Given the description of an element on the screen output the (x, y) to click on. 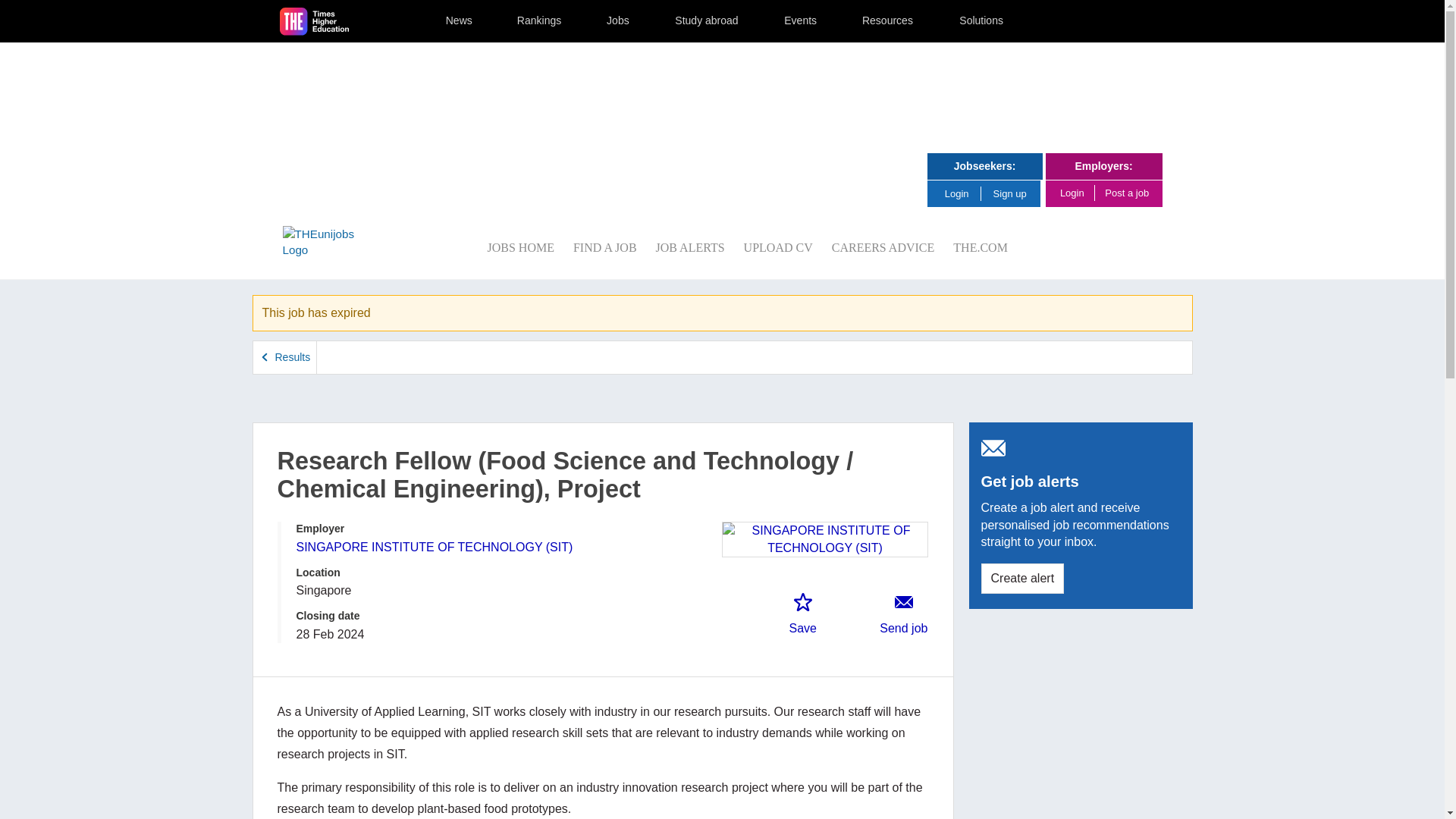
JOBS HOME (519, 246)
Resources (888, 21)
FIND A JOB (605, 246)
Events (800, 21)
THEunijobs (327, 242)
Jobs (617, 21)
Sign up (1010, 194)
Login (961, 193)
News (459, 21)
Study abroad (705, 21)
CAREERS ADVICE (882, 246)
UPLOAD CV (778, 246)
JOB ALERTS (690, 246)
Solutions (981, 21)
Results (285, 357)
